Given the description of an element on the screen output the (x, y) to click on. 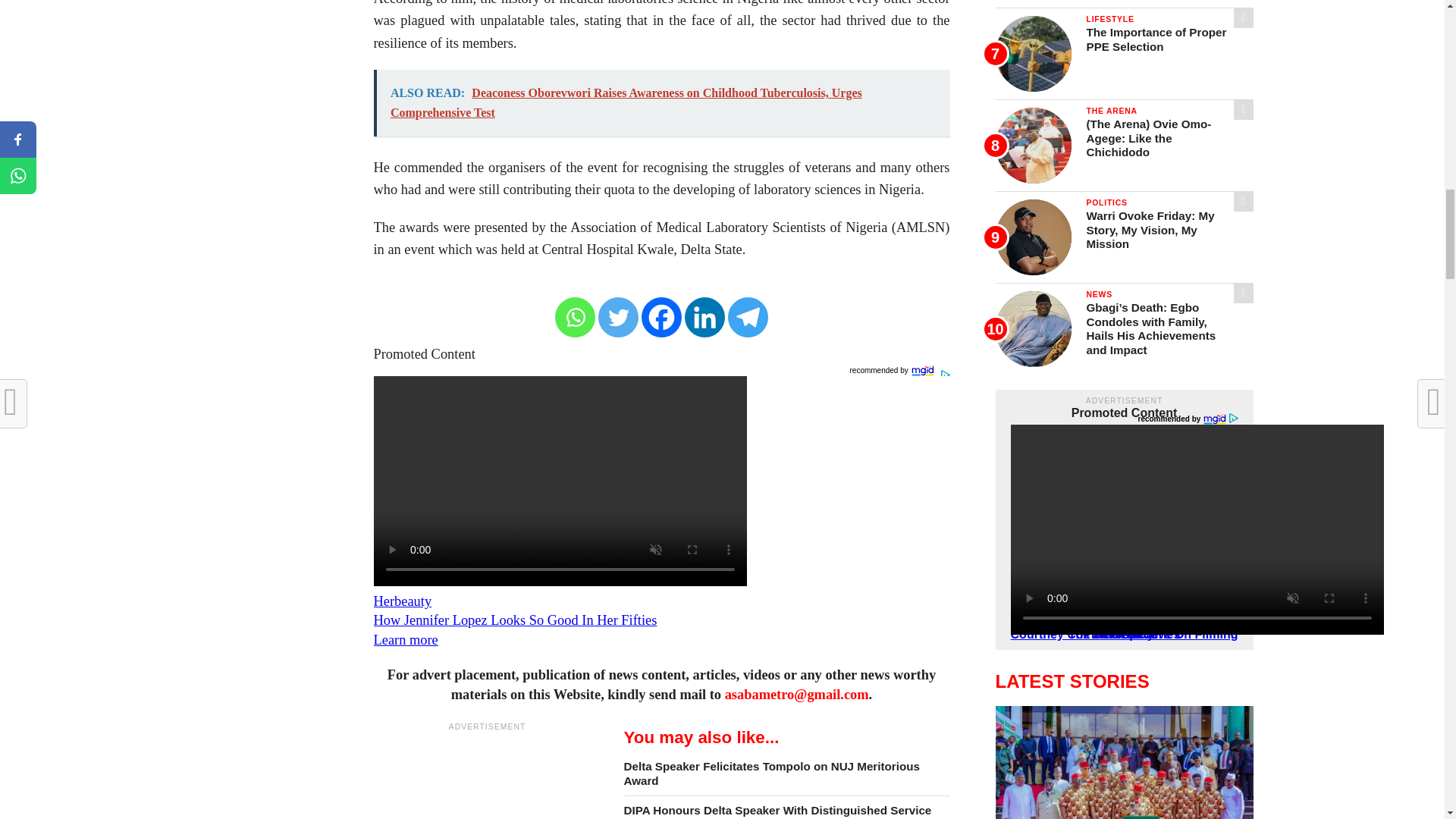
Whatsapp (574, 317)
Twitter (618, 317)
